Given the description of an element on the screen output the (x, y) to click on. 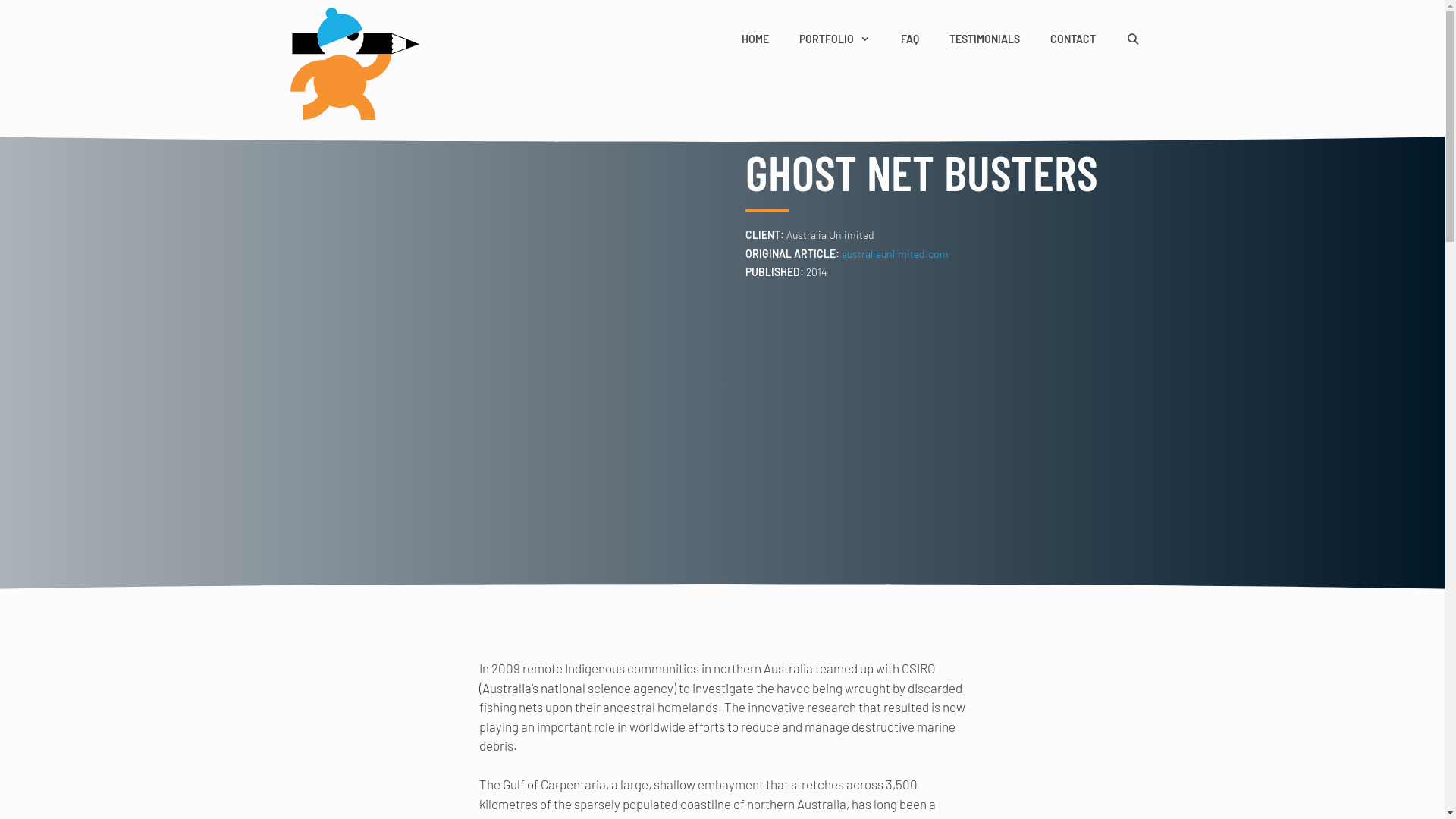
CONTACT Element type: text (1072, 39)
FAQ Element type: text (909, 39)
TESTIMONIALS Element type: text (984, 39)
ORIGINAL ARTICLE: australiaunlimited.com Element type: text (846, 253)
PORTFOLIO Element type: text (834, 39)
HOME Element type: text (755, 39)
